Given the description of an element on the screen output the (x, y) to click on. 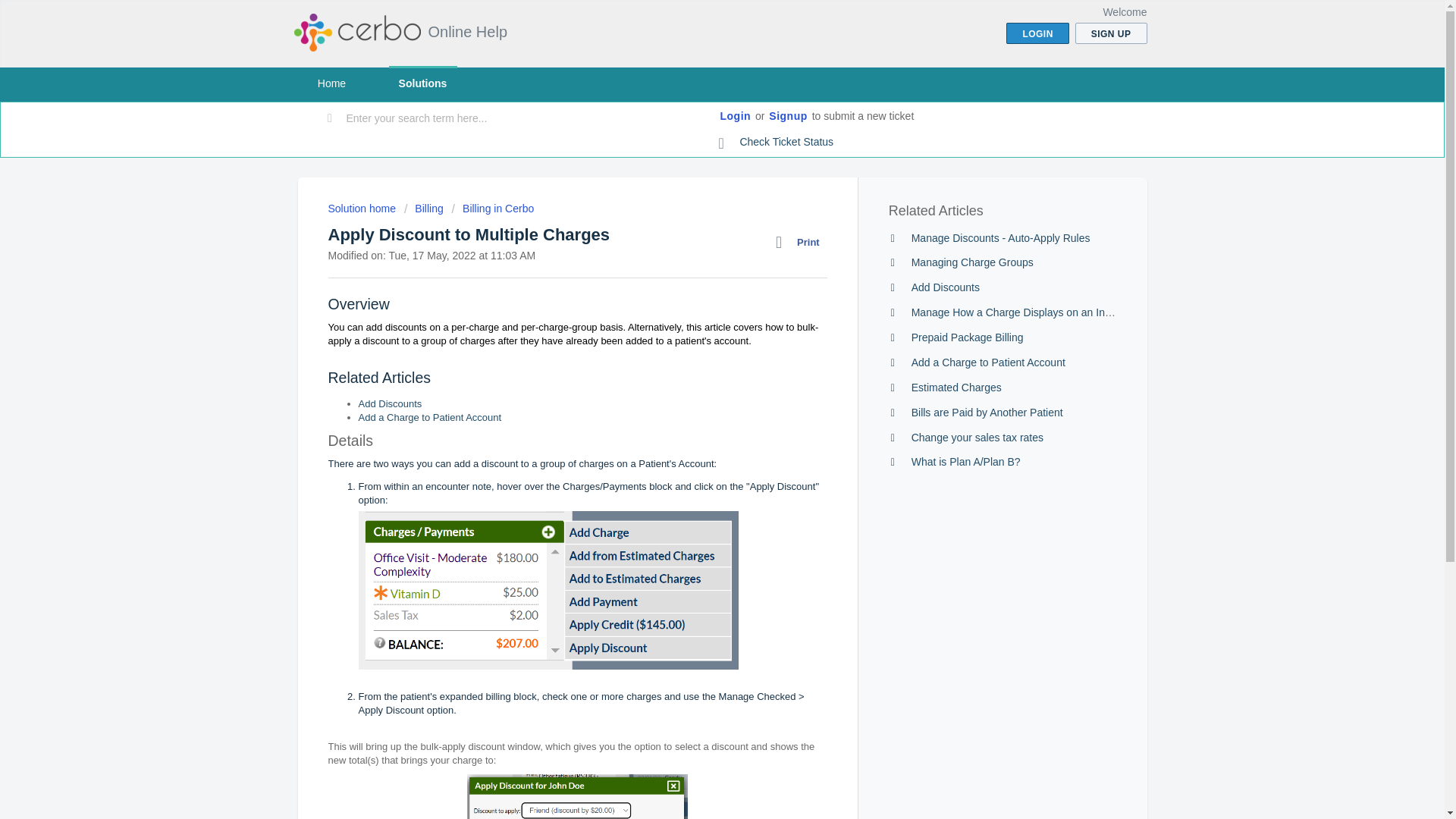
Estimated Charges (956, 387)
Print (801, 242)
Add Discounts (390, 403)
LOGIN (1037, 33)
Add a Charge to Patient Account (429, 417)
Login (735, 116)
Solutions (422, 83)
SIGN UP (1111, 33)
Check ticket status (776, 142)
Solution home (362, 208)
Change your sales tax rates (977, 437)
Billing (424, 208)
Manage Discounts - Auto-Apply Rules (1000, 237)
Print this Article (801, 242)
Bills are Paid by Another Patient (986, 412)
